Given the description of an element on the screen output the (x, y) to click on. 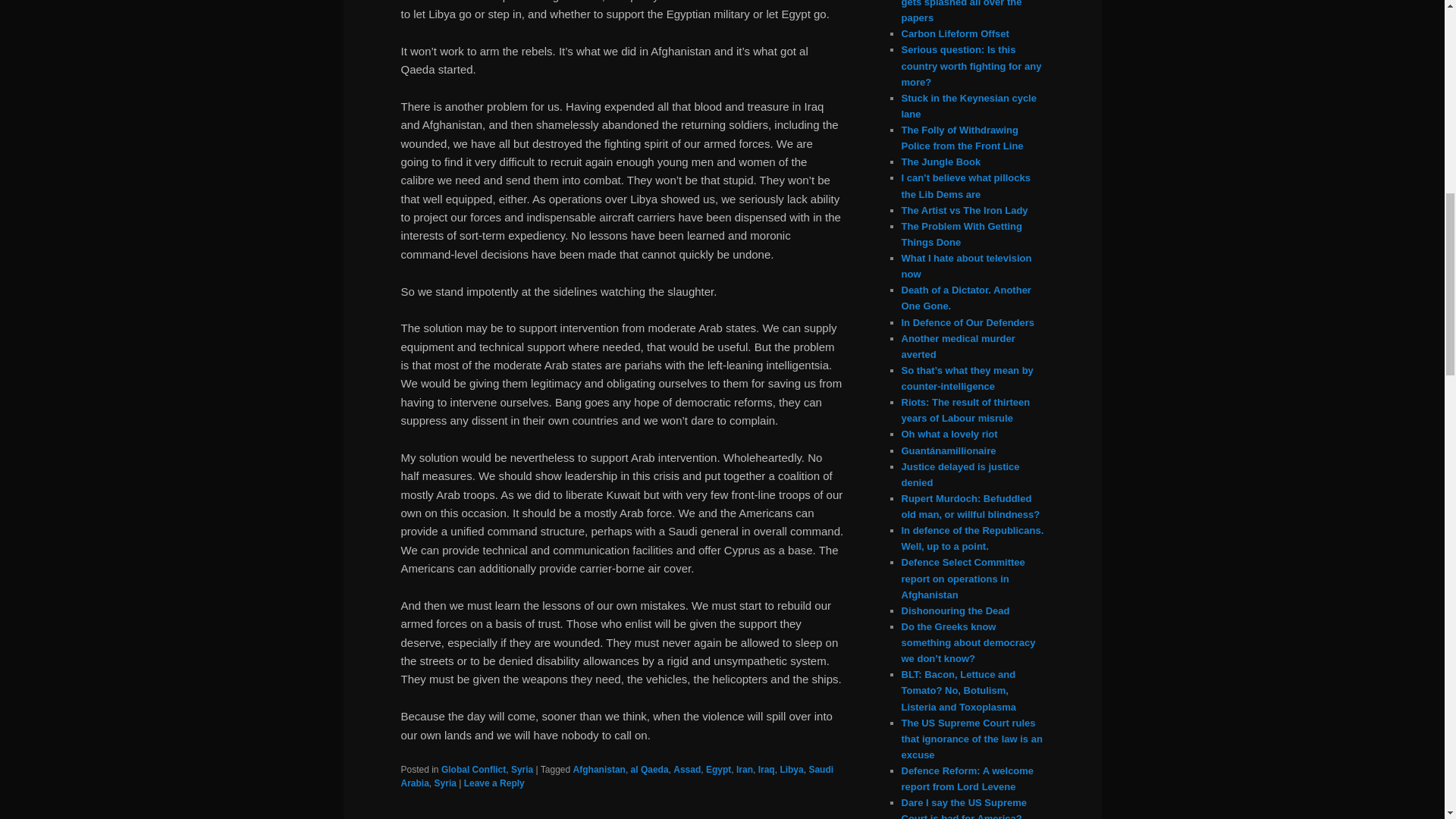
Iraq (766, 769)
Afghanistan (599, 769)
Egypt (718, 769)
Iran (744, 769)
Leave a Reply (494, 783)
Syria (521, 769)
al Qaeda (649, 769)
Global Conflict (473, 769)
Syria (445, 783)
Assad (686, 769)
Libya (790, 769)
Saudi Arabia (616, 776)
